Given the description of an element on the screen output the (x, y) to click on. 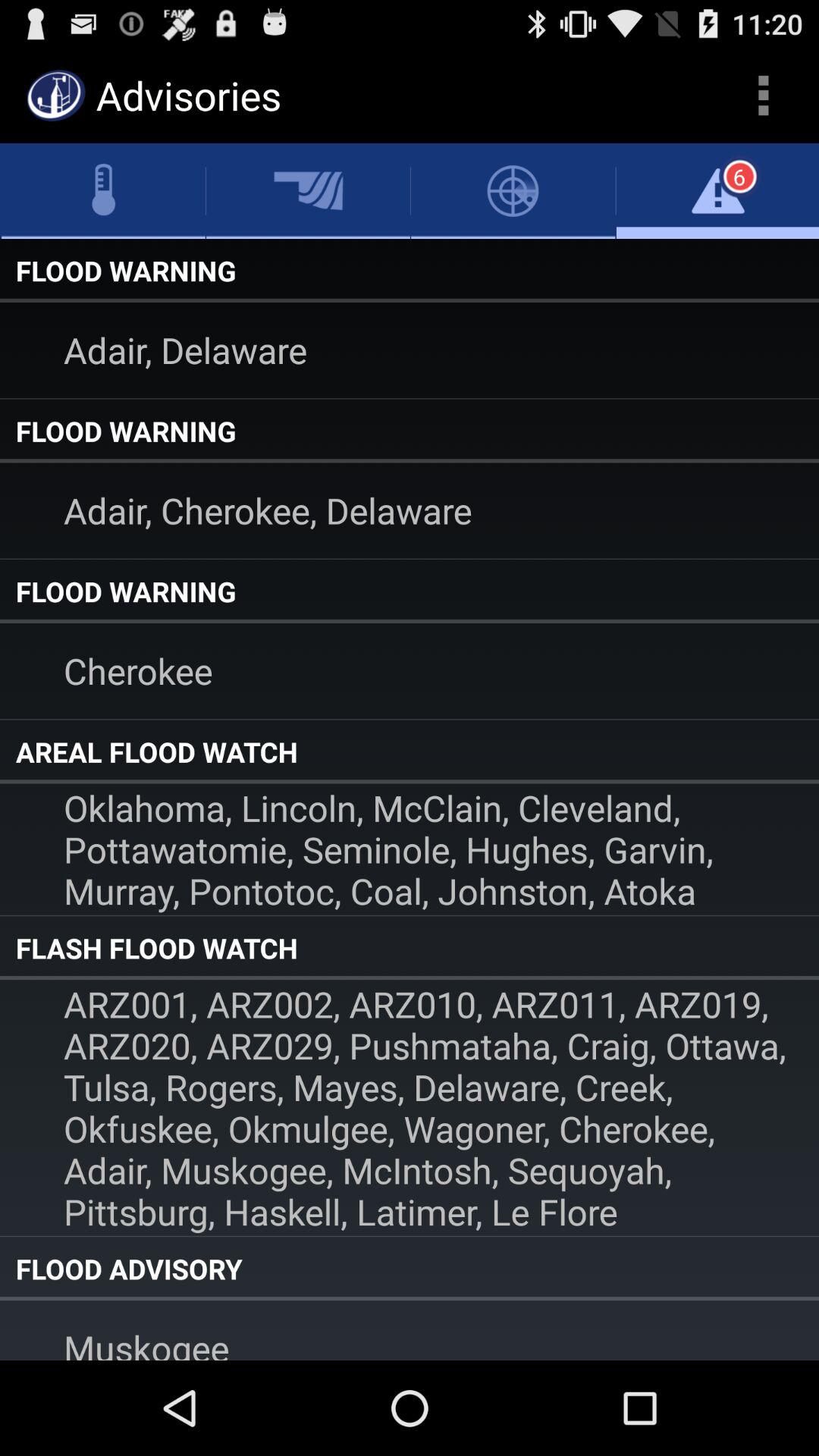
click on third  icon in the top row from left side (513, 190)
